Given the description of an element on the screen output the (x, y) to click on. 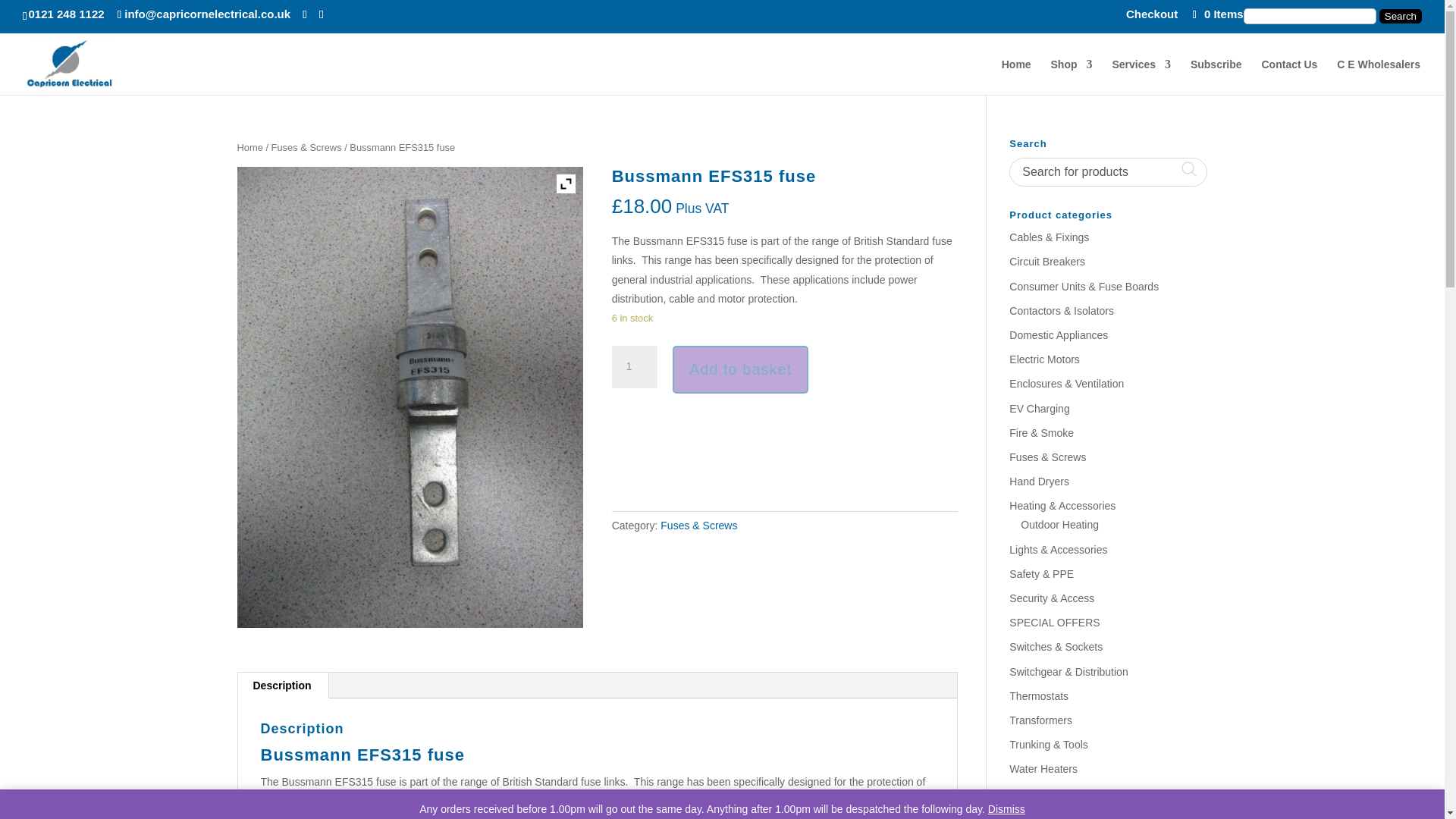
Checkout (1151, 17)
PayPal (784, 440)
1 (634, 366)
0 Items (1216, 13)
Search (1400, 16)
Subscribe (1216, 76)
Contact Us (1289, 76)
Home (1015, 76)
Search (1400, 16)
Services (1141, 76)
C E Wholesalers (1378, 76)
Shop (1072, 76)
